Given the description of an element on the screen output the (x, y) to click on. 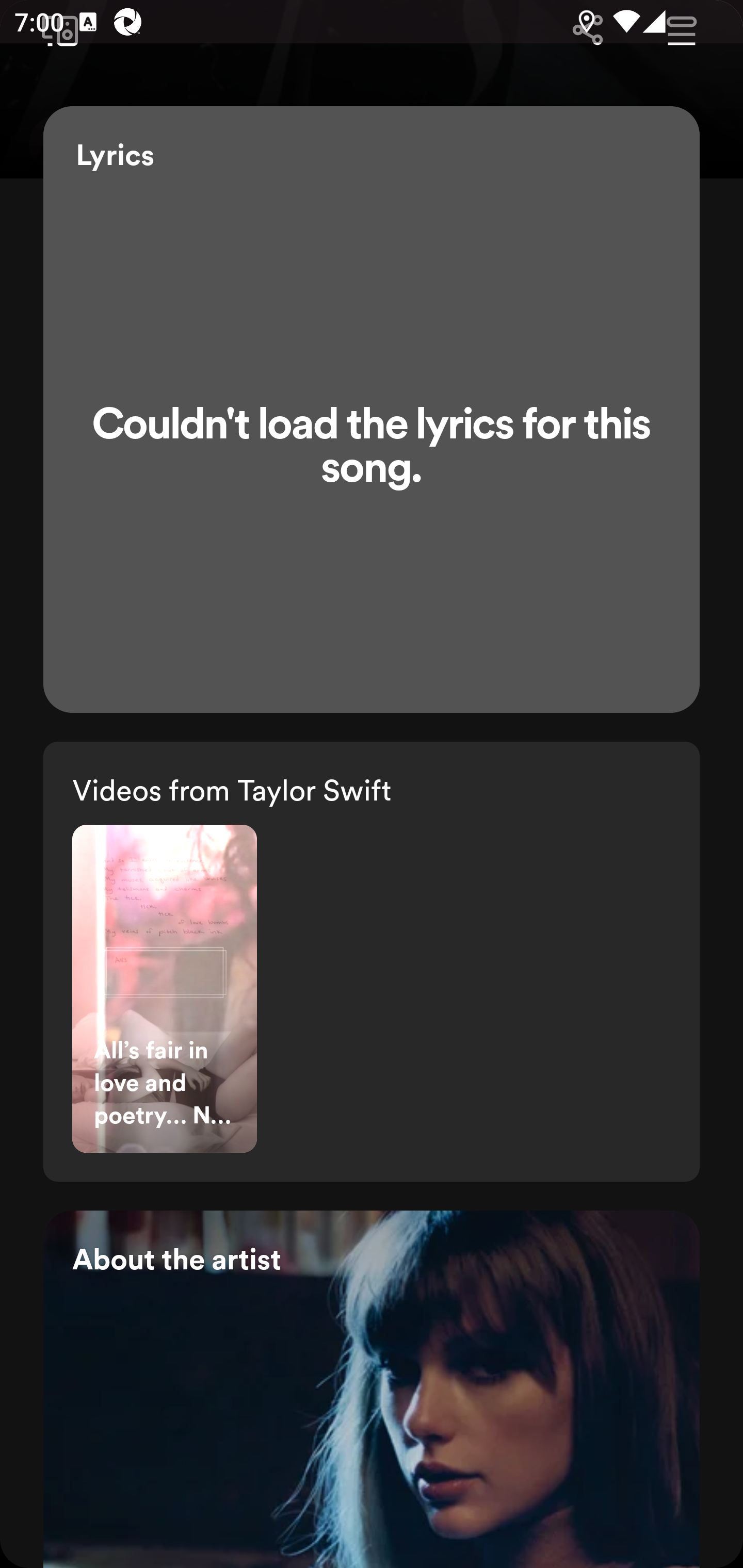
About the artist (371, 1389)
